Given the description of an element on the screen output the (x, y) to click on. 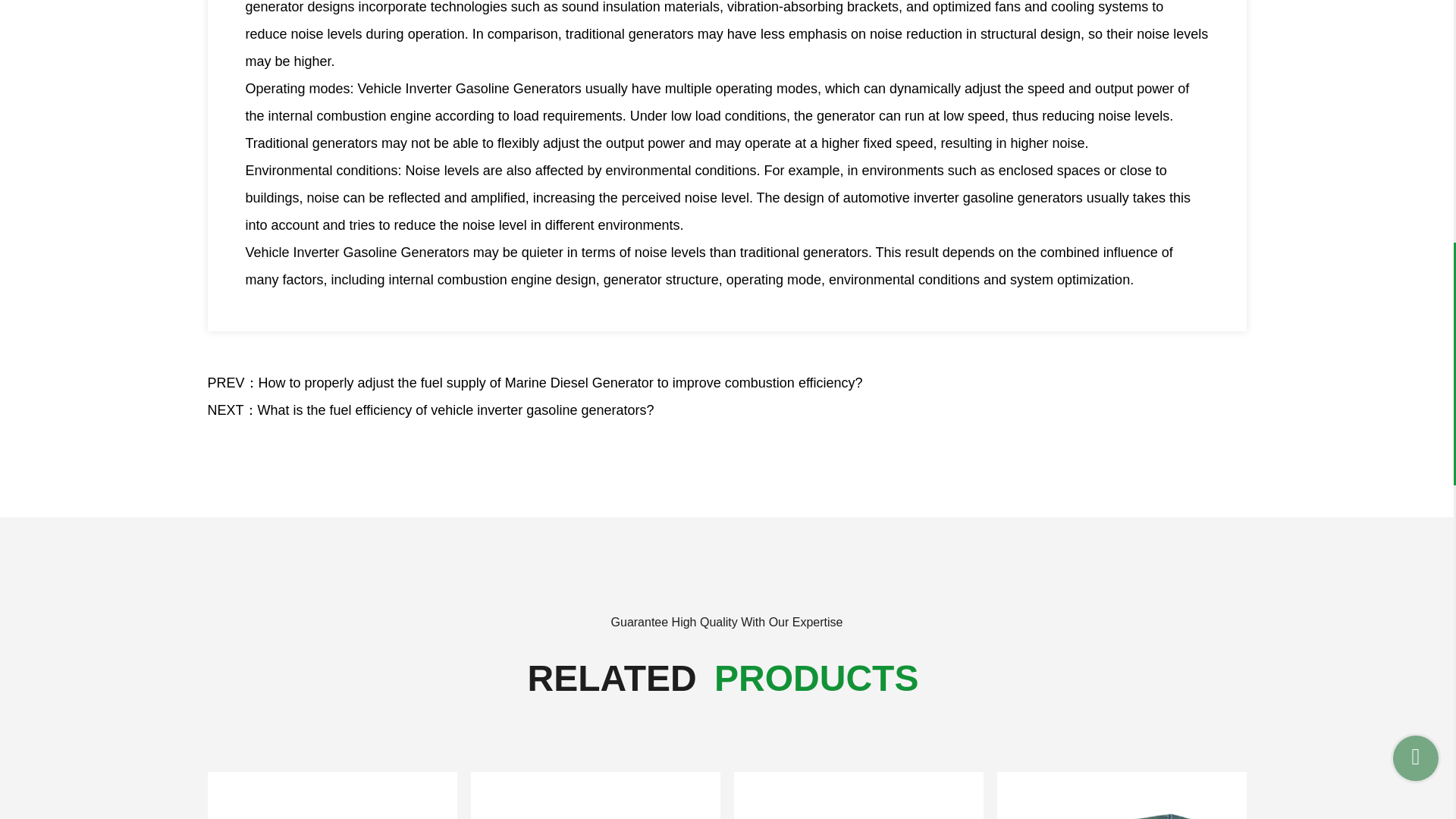
H-GV 5000i Small Diesel Engines Generators for Trucks (1120, 795)
HSD8000iS Vehicle Small Inverter Gasoline Generators for rv (858, 795)
HSD4000iS Super Silent Vehicle Portable Gasoline Generator (332, 795)
